Given the description of an element on the screen output the (x, y) to click on. 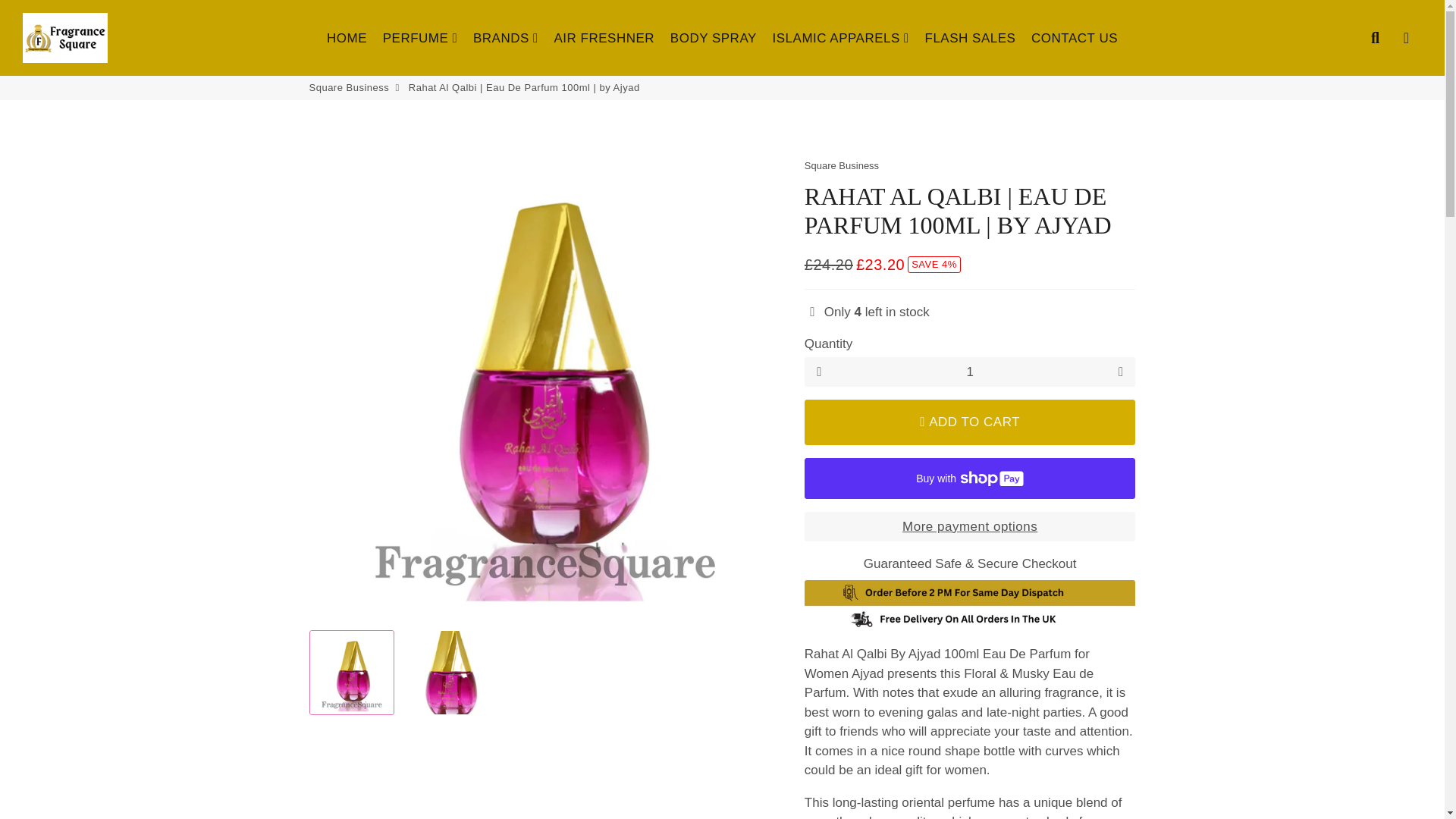
1 (970, 372)
